Given the description of an element on the screen output the (x, y) to click on. 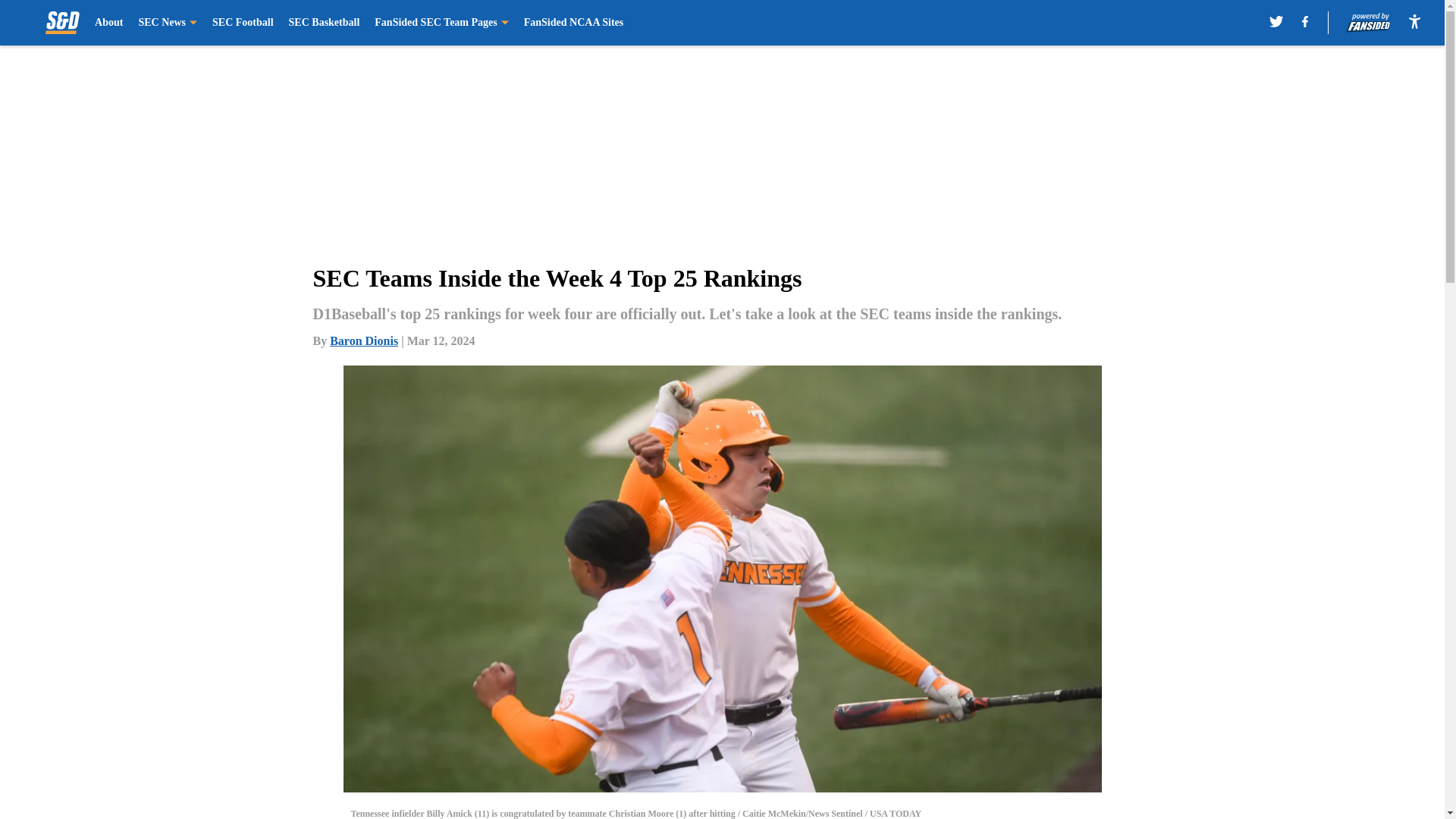
About (108, 22)
SEC Football (242, 22)
FanSided NCAA Sites (573, 22)
SEC Basketball (323, 22)
